Given the description of an element on the screen output the (x, y) to click on. 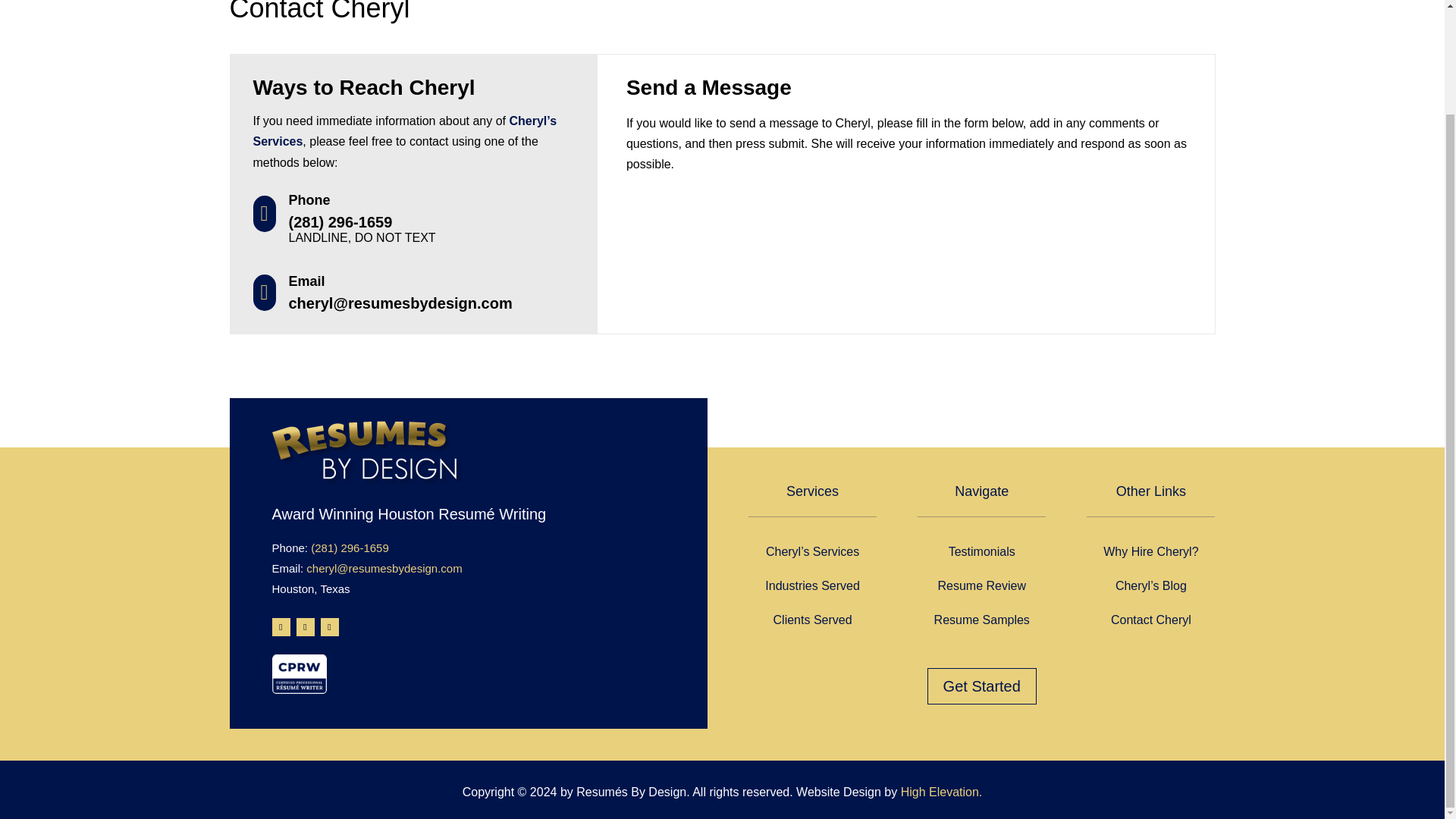
Follow on Facebook (279, 627)
Follow on X (328, 627)
Get Started (981, 686)
High Elevation. (941, 791)
Follow on LinkedIn (304, 627)
